Given the description of an element on the screen output the (x, y) to click on. 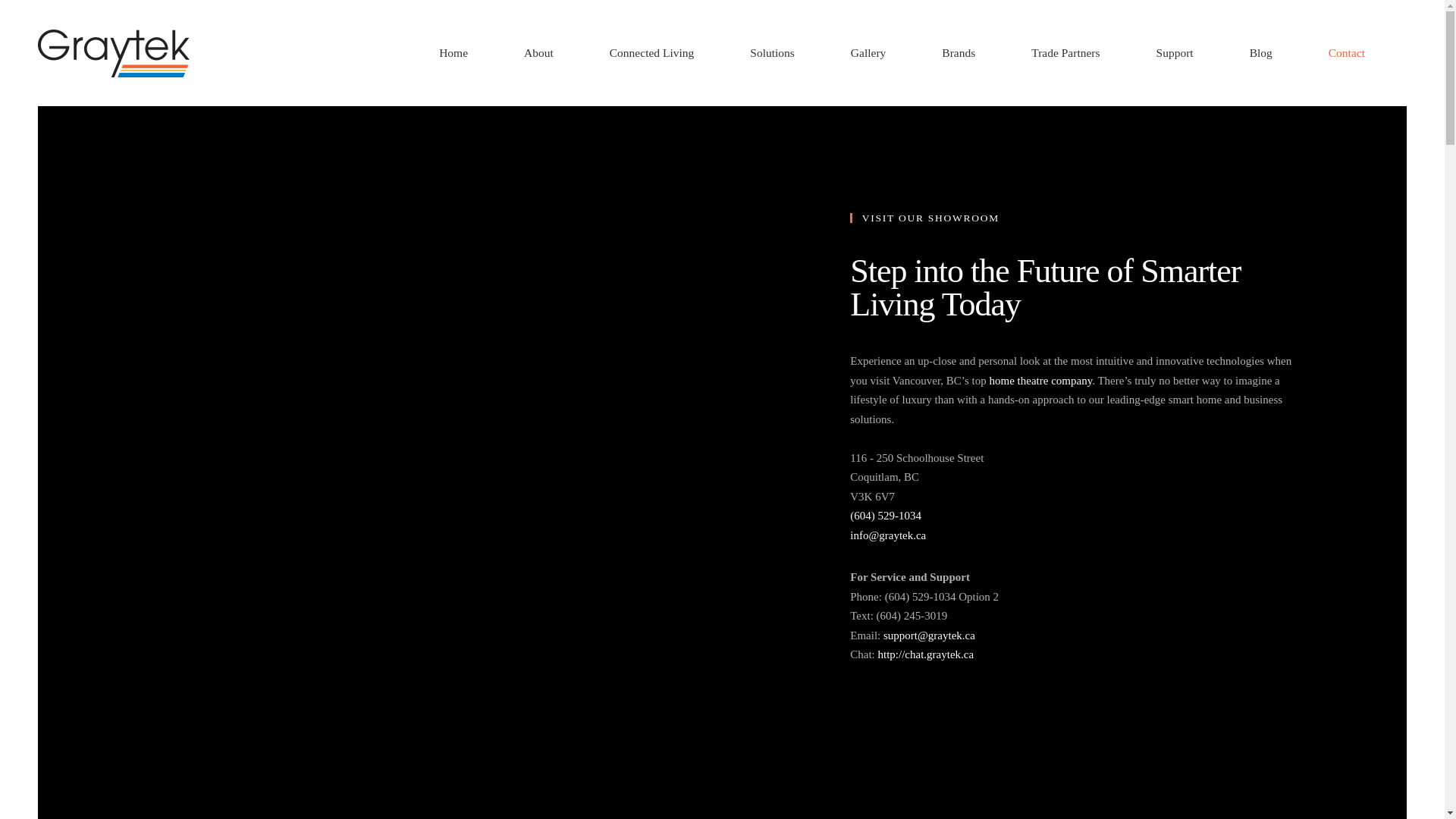
Connected Living (652, 52)
Trade Partners (1065, 52)
Step into the Future of Smarter Living Today (1077, 287)
Solutions (772, 52)
VISIT OUR SHOWROOM (1077, 218)
